Given the description of an element on the screen output the (x, y) to click on. 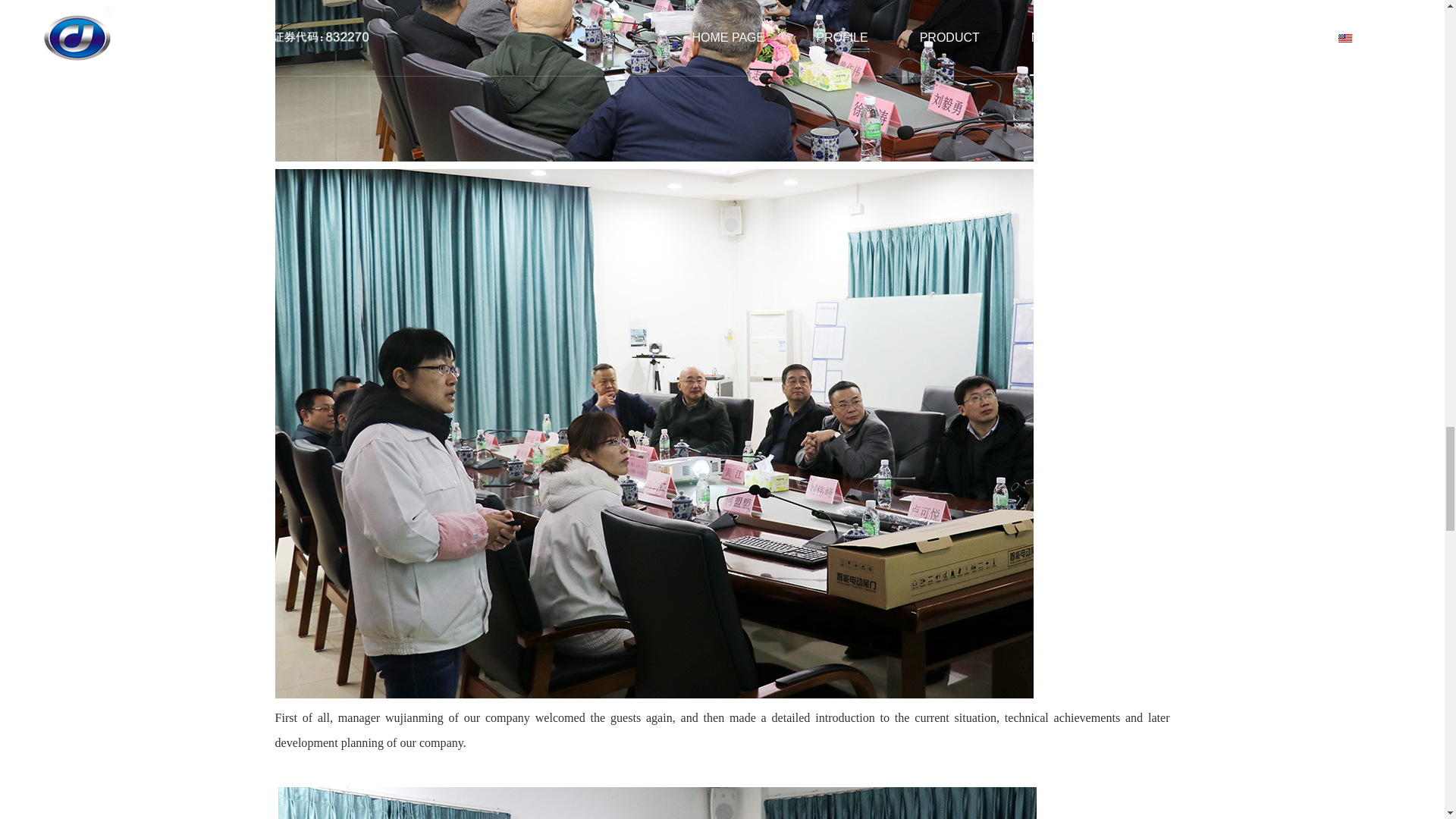
5ffe60e62858c.jpg (653, 80)
